Given the description of an element on the screen output the (x, y) to click on. 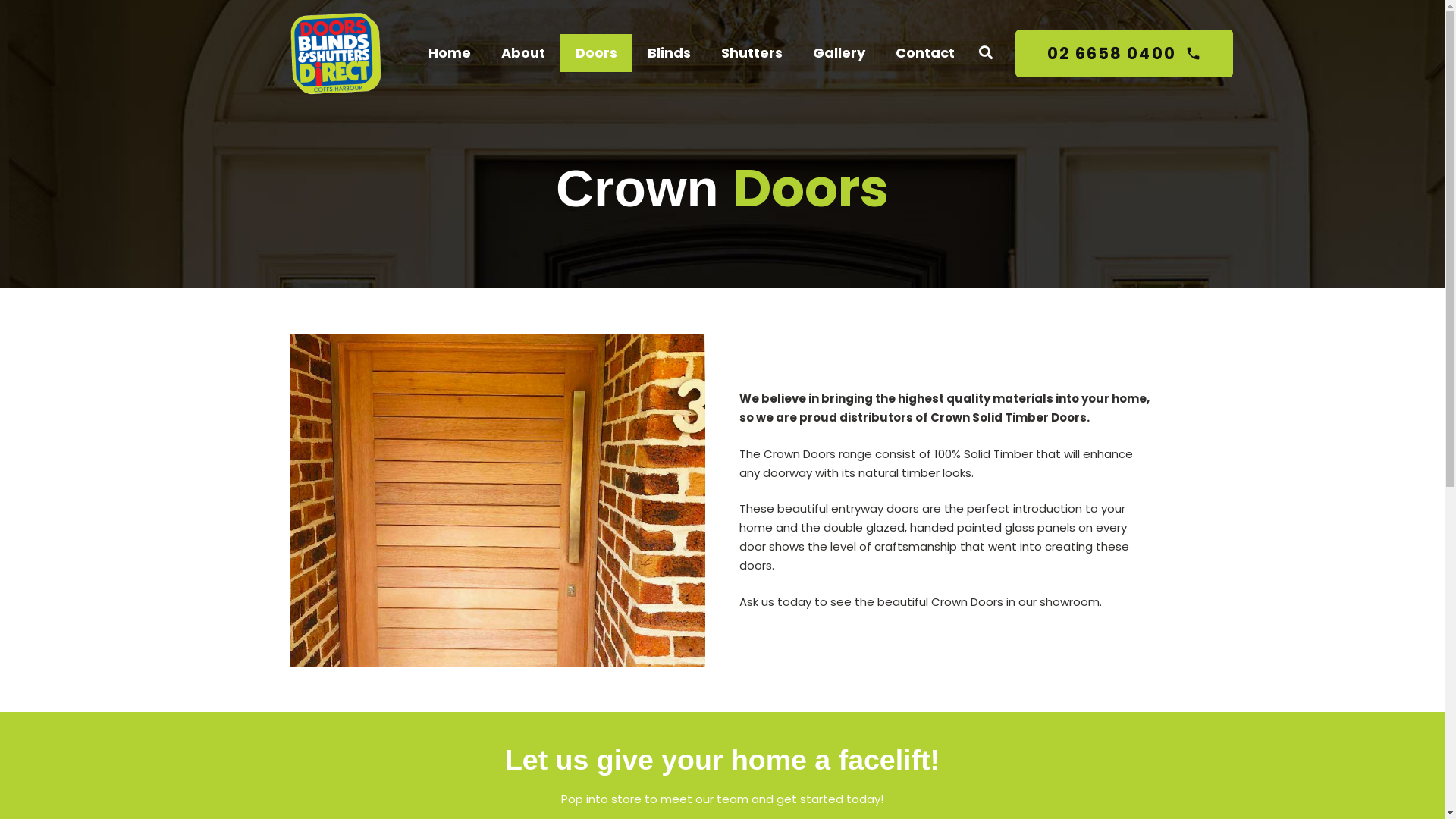
phone
02 6658 0400 Element type: text (1123, 52)
Contact Element type: text (924, 53)
Shutters Element type: text (751, 53)
About Element type: text (522, 53)
Blinds Element type: text (669, 53)
Search Element type: hover (985, 53)
Home Element type: text (448, 53)
Gallery Element type: text (838, 53)
Doors Element type: text (595, 53)
